Given the description of an element on the screen output the (x, y) to click on. 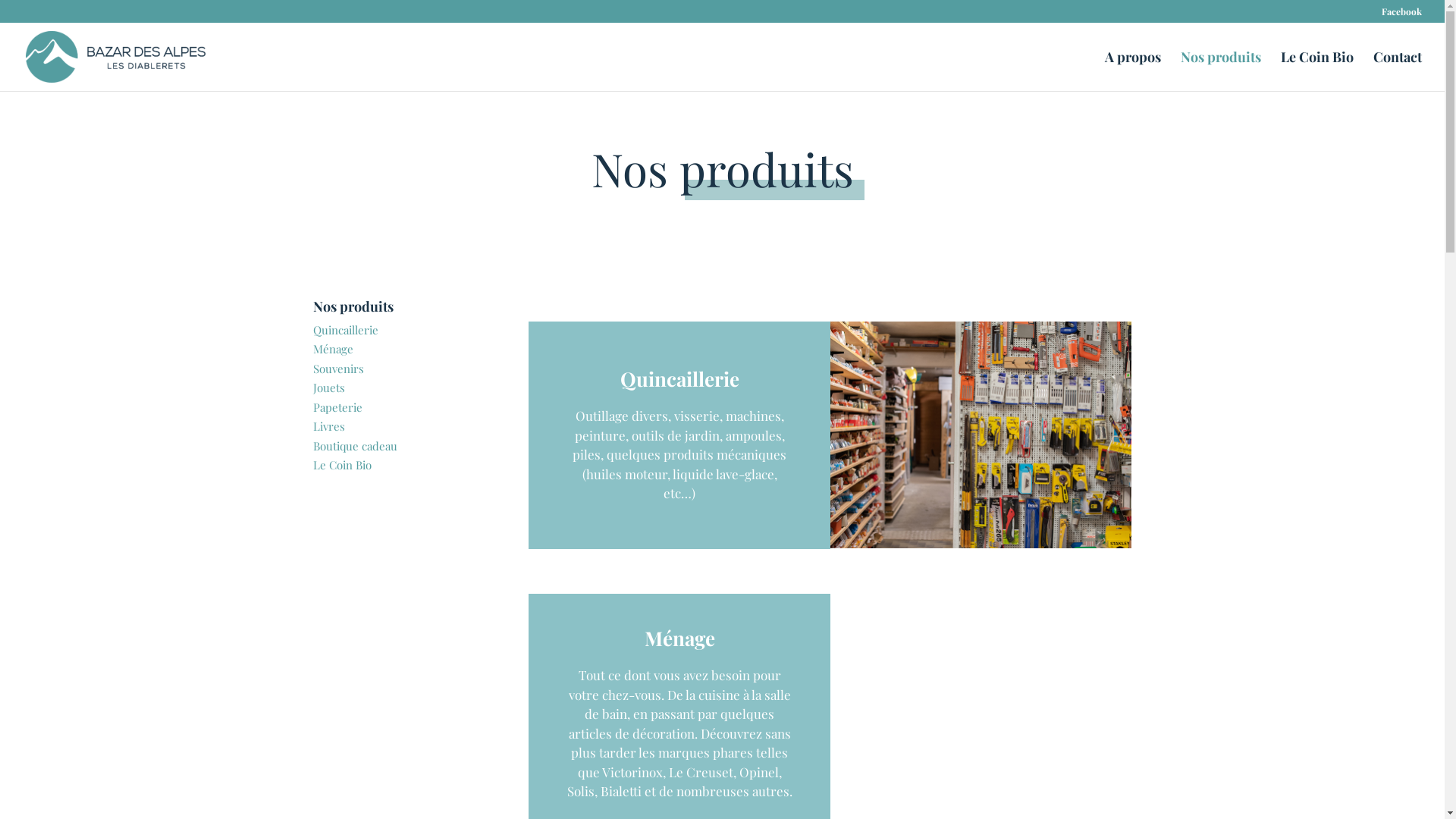
Jouets Element type: text (328, 387)
Quincaillerie Element type: text (344, 329)
Facebook Element type: text (1401, 14)
Le Coin Bio Element type: text (1316, 71)
Nos produits Element type: text (1220, 71)
Le Coin Bio Element type: text (341, 464)
Contact Element type: text (1397, 71)
quincaillerie6 Element type: hover (981, 434)
Livres Element type: text (328, 425)
Boutique cadeau Element type: text (354, 445)
Souvenirs Element type: text (337, 368)
Papeterie Element type: text (336, 406)
A propos Element type: text (1132, 71)
